Given the description of an element on the screen output the (x, y) to click on. 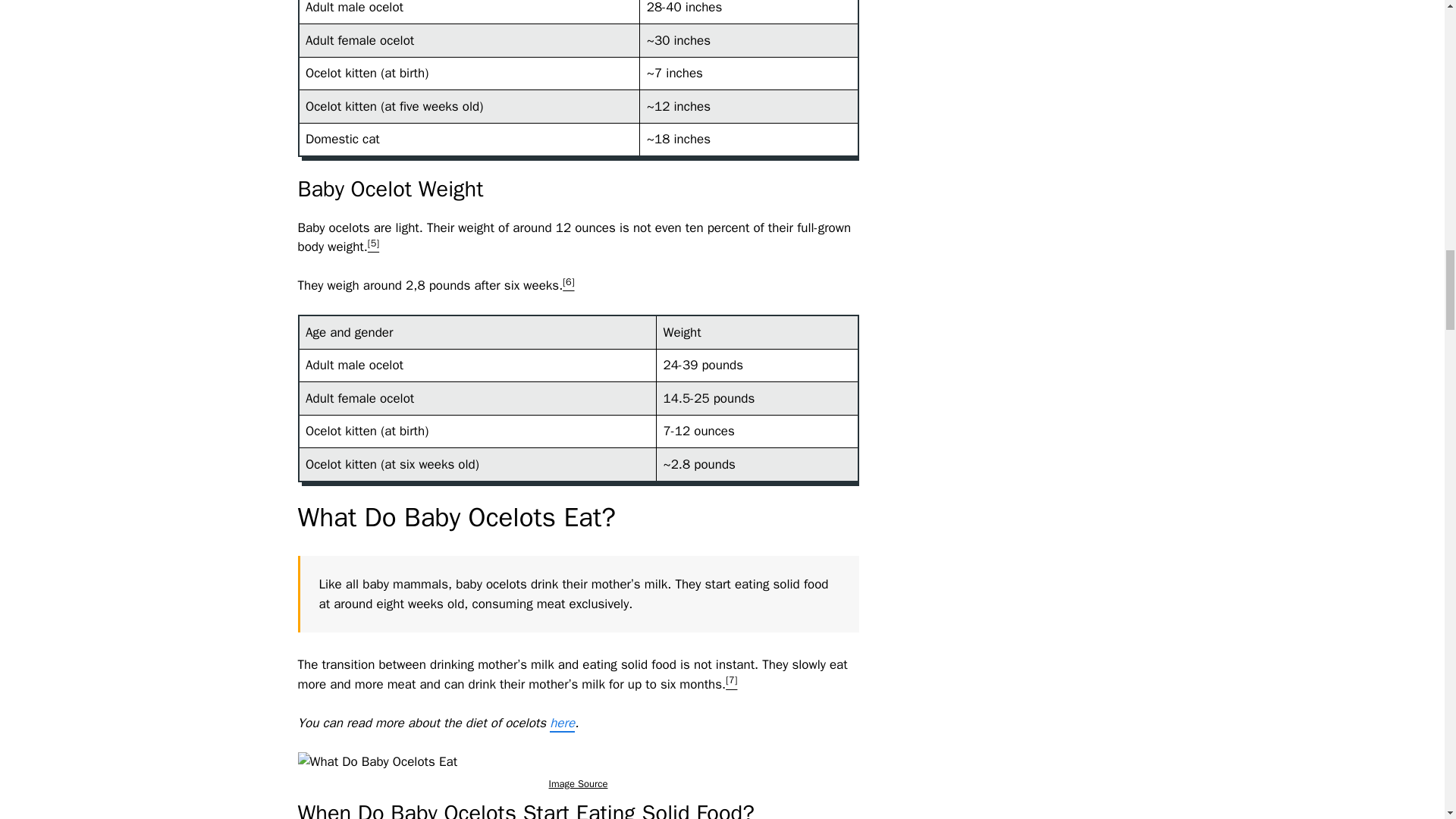
here (562, 723)
Image Source (578, 783)
Baby Ocelots: Everything to Know About Ocelot Kittens (377, 762)
